Given the description of an element on the screen output the (x, y) to click on. 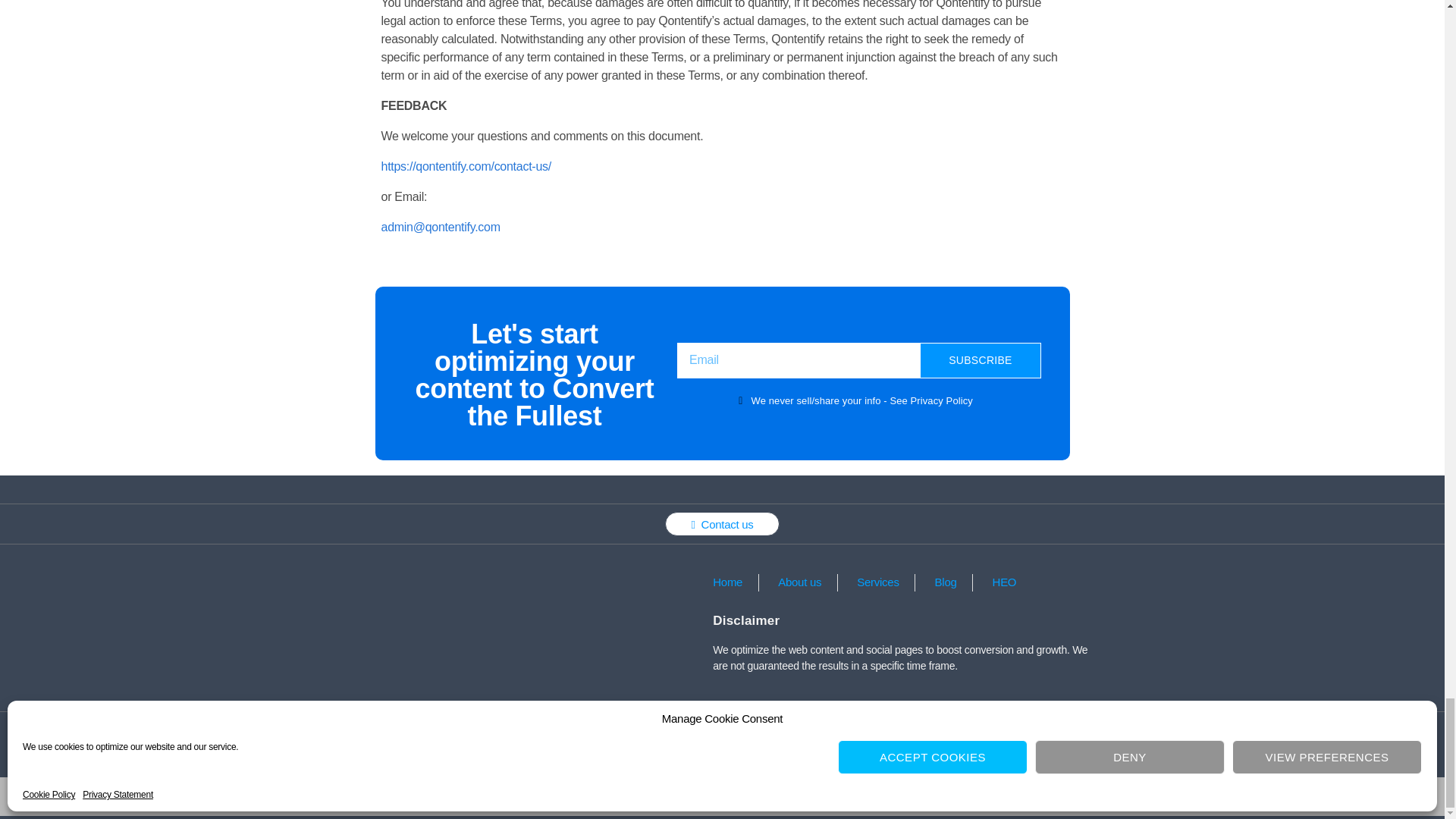
Contact us (721, 523)
Home (725, 582)
Disclosure (877, 732)
SUBSCRIBE (980, 360)
Qontentify (684, 796)
Sitemap (956, 732)
Qont Privacy Policy (511, 732)
HEO (1002, 582)
About us (797, 582)
Services (875, 582)
